Given the description of an element on the screen output the (x, y) to click on. 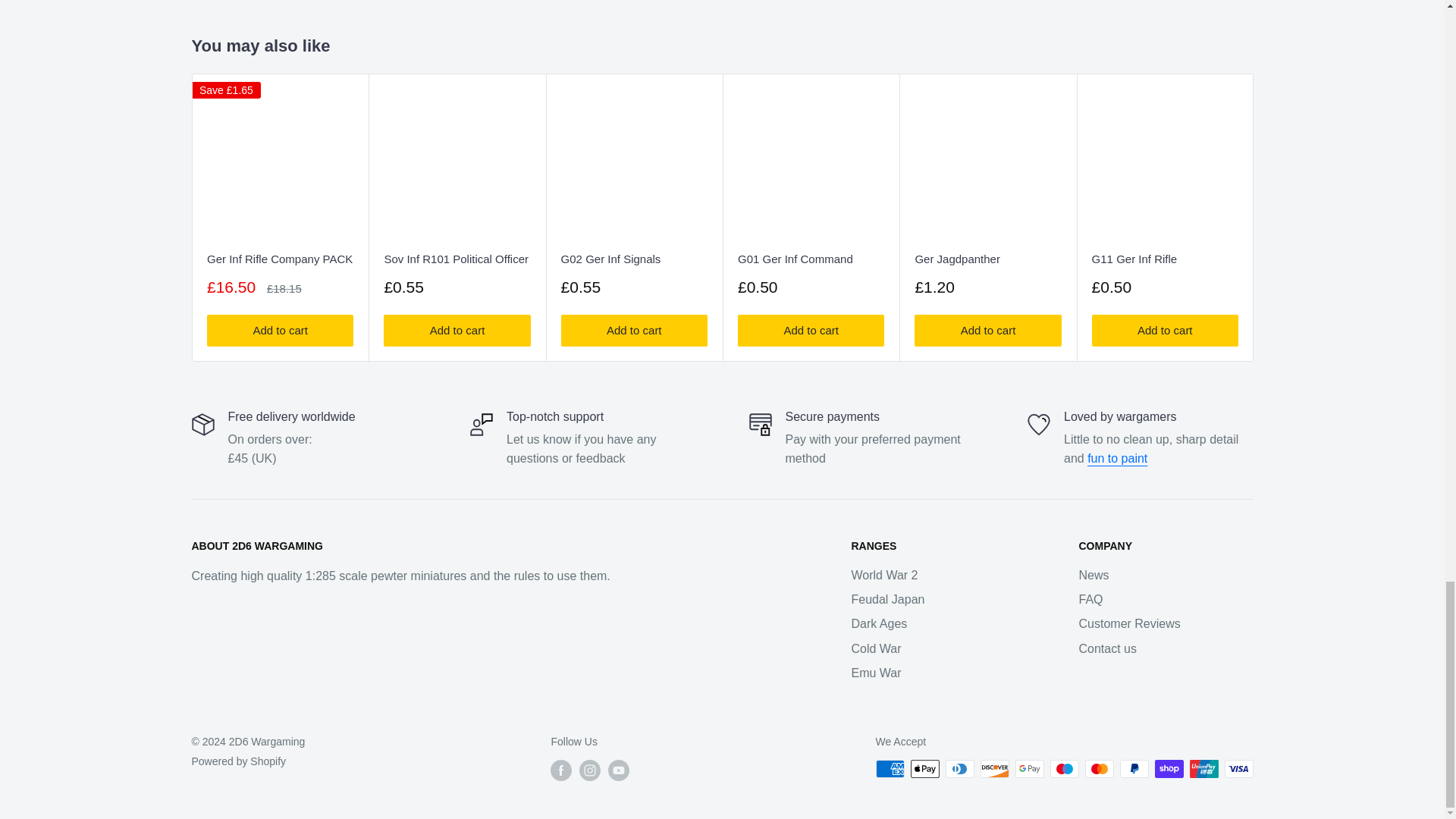
Customer Reviews (1117, 458)
